Given the description of an element on the screen output the (x, y) to click on. 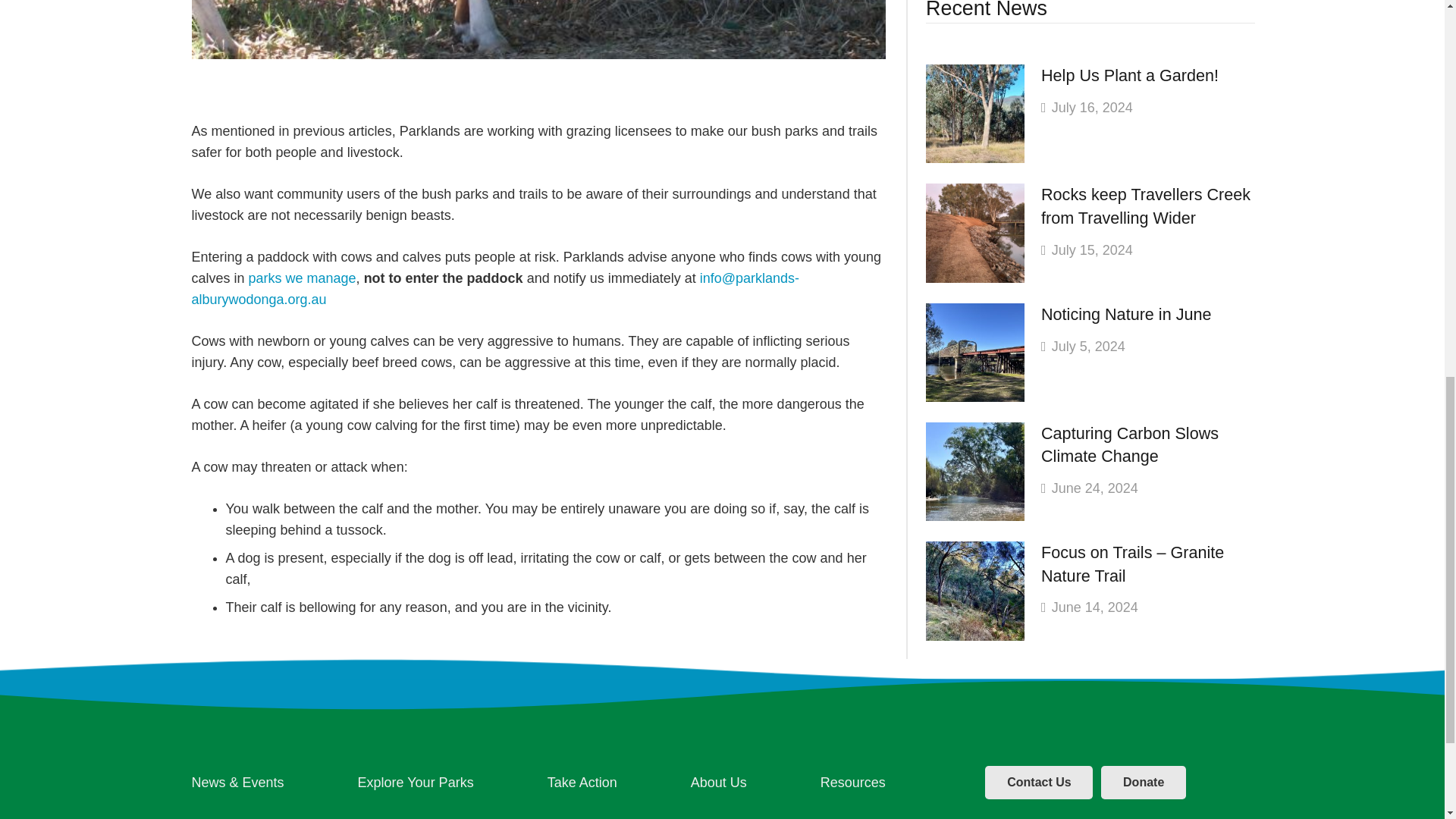
Contact Us (1039, 782)
Back to top (1413, 37)
Donate (1143, 782)
